Given the description of an element on the screen output the (x, y) to click on. 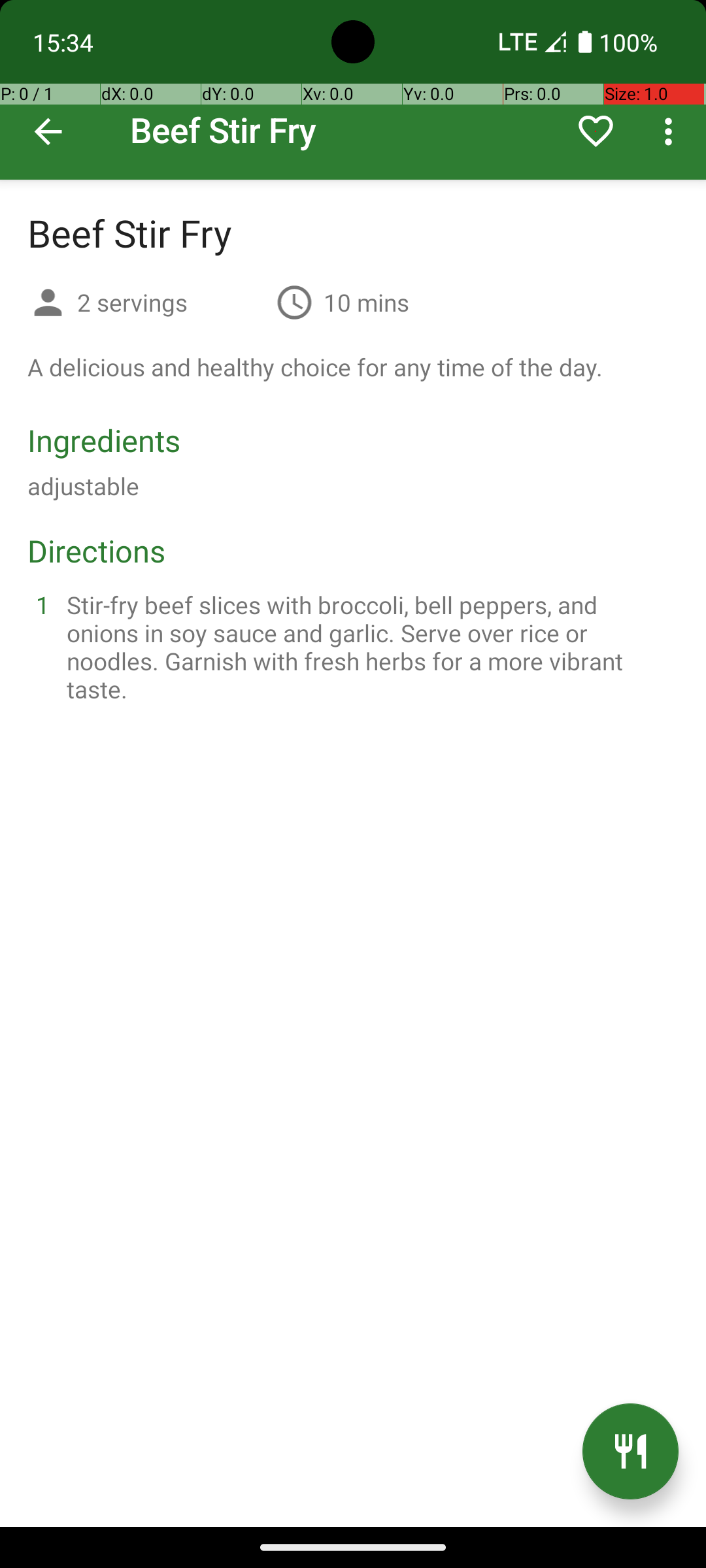
Stir-fry beef slices with broccoli, bell peppers, and onions in soy sauce and garlic. Serve over rice or noodles. Garnish with fresh herbs for a more vibrant taste. Element type: android.widget.TextView (368, 646)
